Given the description of an element on the screen output the (x, y) to click on. 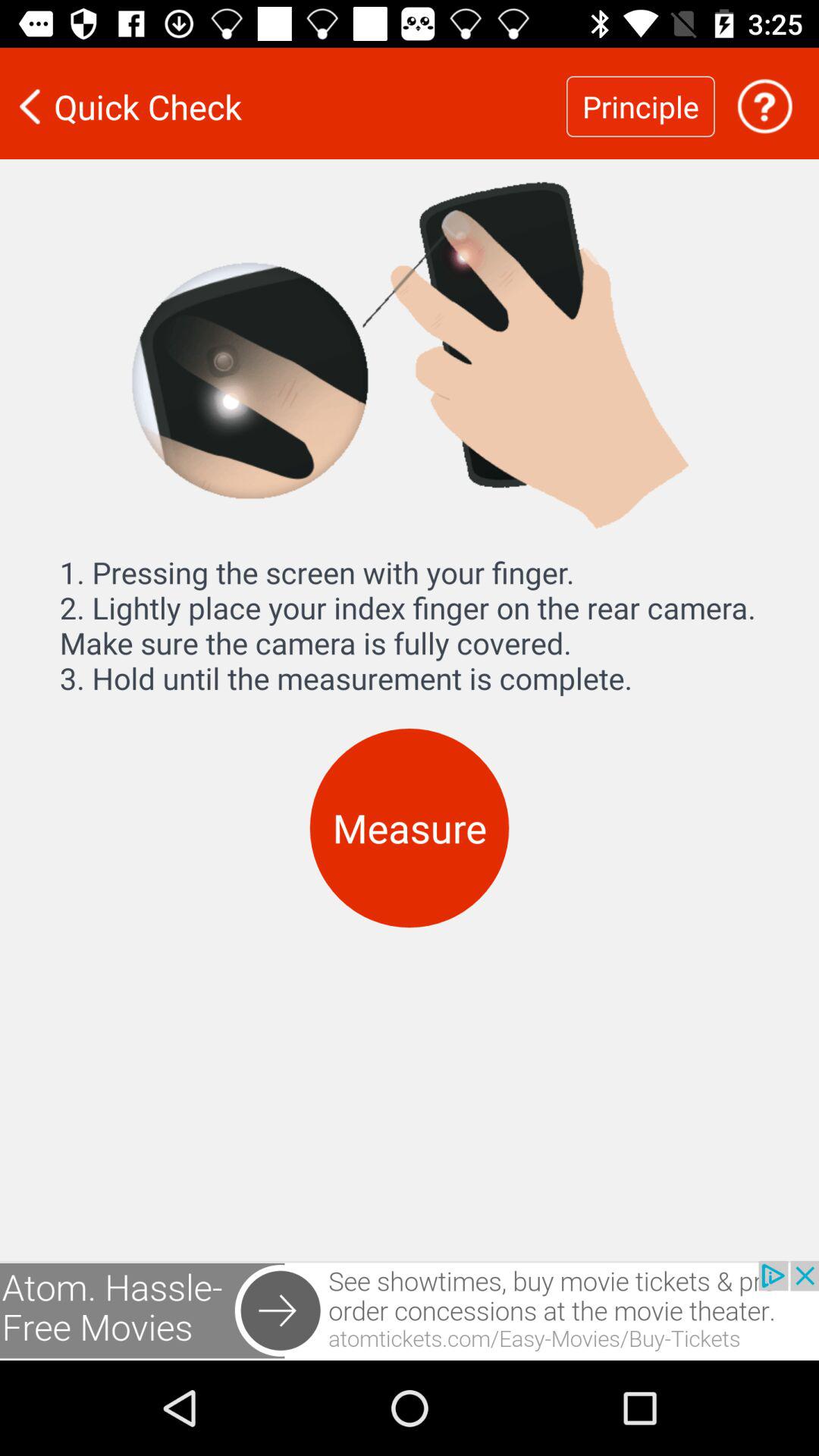
help (764, 106)
